Given the description of an element on the screen output the (x, y) to click on. 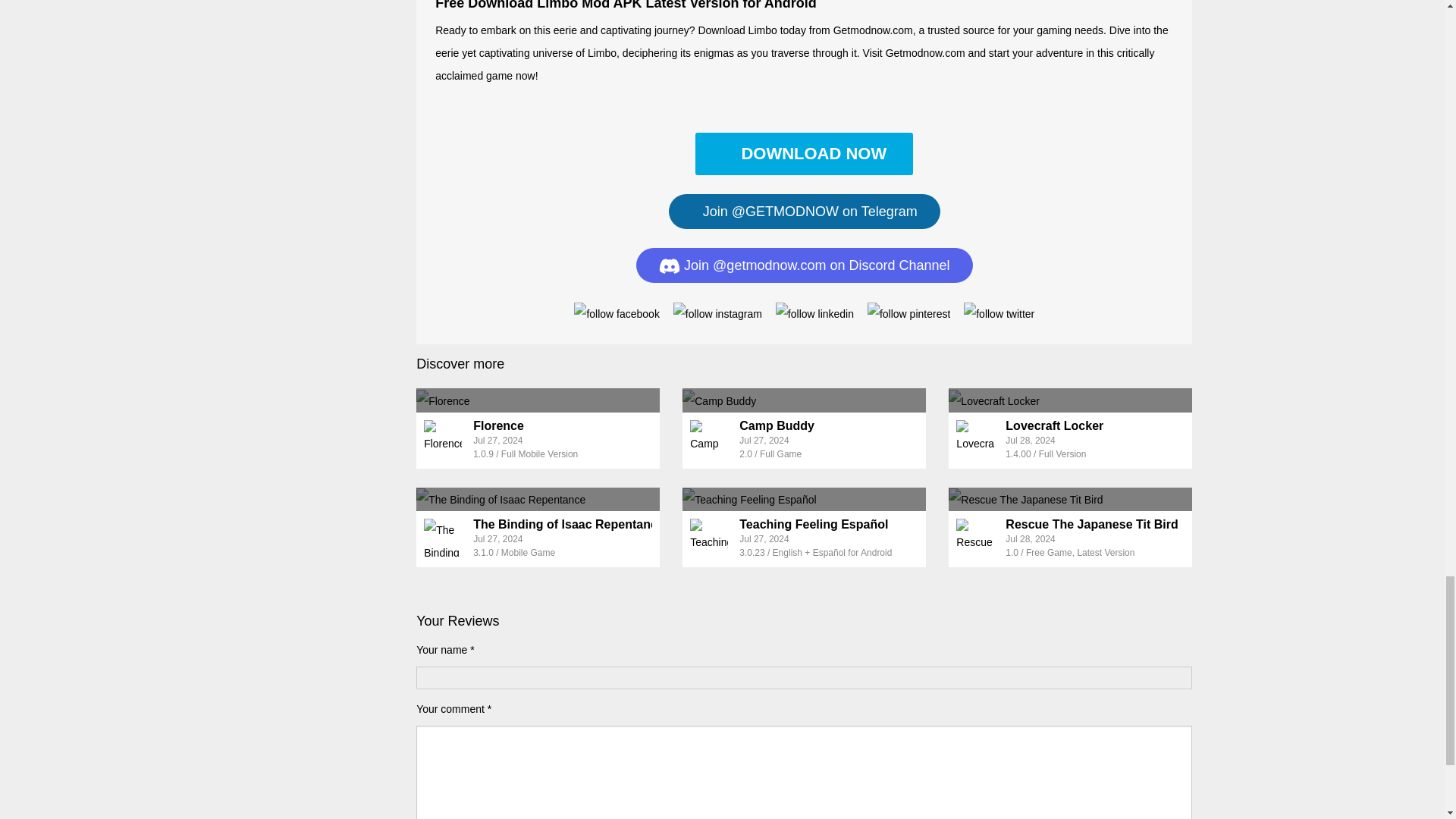
Lovecraft Locker (1054, 425)
Camp Buddy (804, 399)
The Binding of Isaac Repentance (568, 523)
Florence (498, 425)
Florence (537, 399)
Rescue The Japanese Tit Bird (1091, 523)
Lovecraft Locker (1070, 399)
Rescue The Japanese Tit Bird (1070, 499)
The Binding of Isaac Repentance (537, 499)
Limbo (804, 153)
Camp Buddy (776, 425)
